Given the description of an element on the screen output the (x, y) to click on. 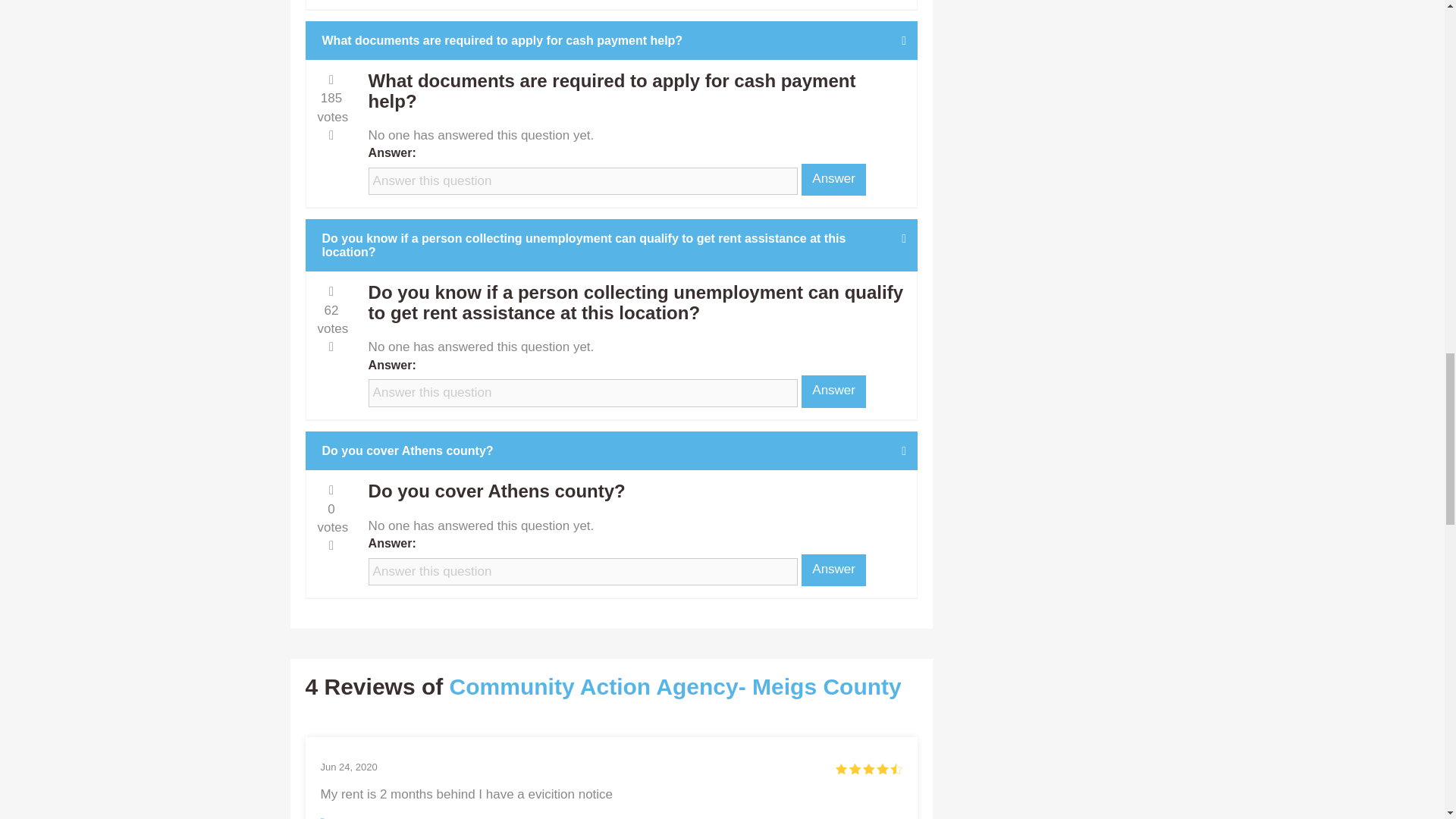
Answer (834, 179)
Dis-Like (387, 818)
Share Now: (580, 818)
Like (334, 817)
Comments (509, 818)
Answer (834, 570)
Do you cover Athens county? (612, 450)
What documents are required to apply for cash payment help? (612, 40)
Answer (834, 391)
